Given the description of an element on the screen output the (x, y) to click on. 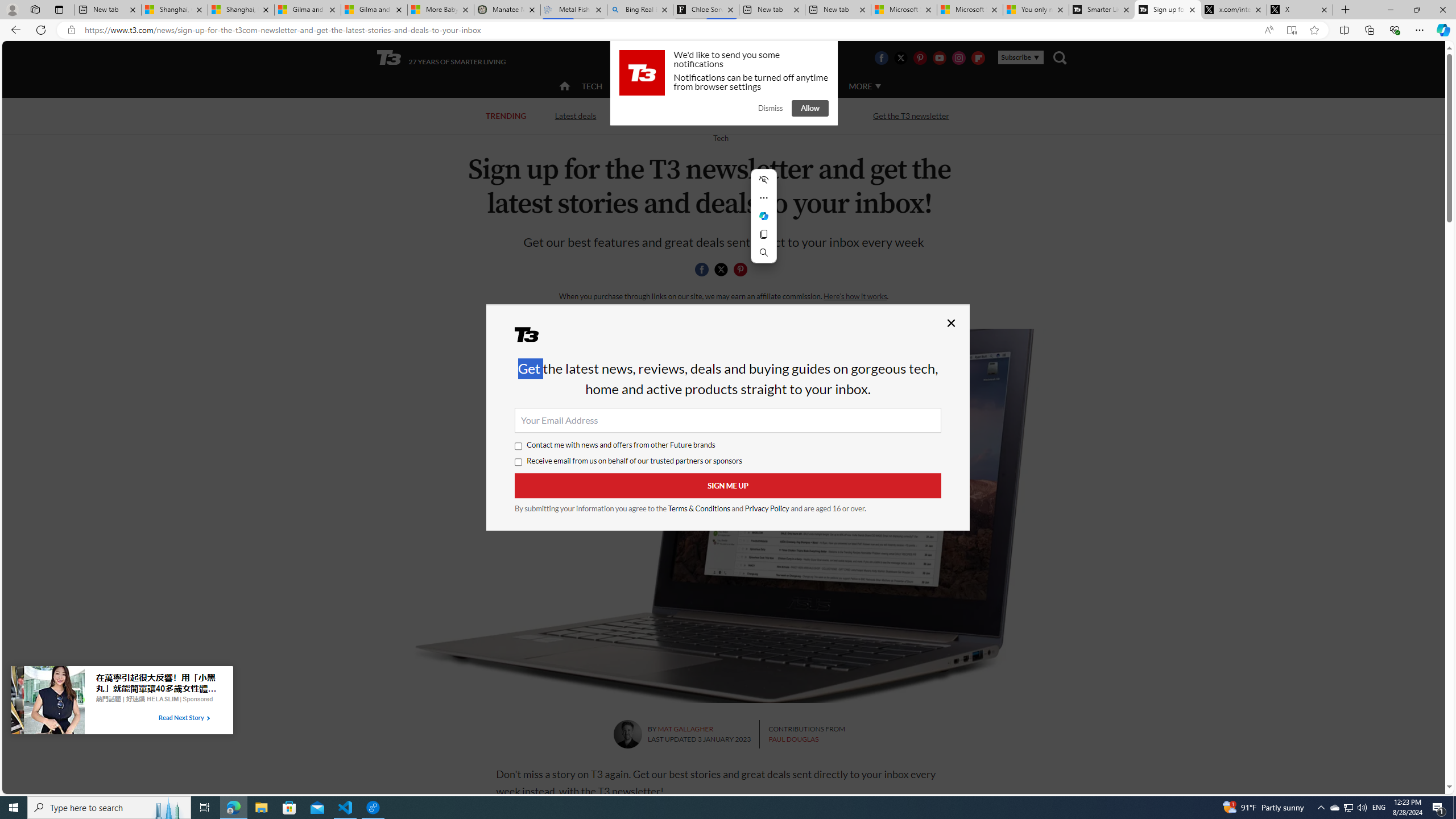
View site information (70, 29)
AUTO (815, 85)
Latest deals (574, 115)
Streaming TV and movies (788, 115)
Visit us on Flipboard (978, 57)
Visit us on Twitter (900, 57)
Minimize (1390, 9)
home (564, 86)
Share this page on Facebook (701, 269)
ACTIVE (638, 85)
Mini menu on text selection (763, 215)
T3 (534, 338)
Class: social__item (742, 271)
App bar (728, 29)
Enter Immersive Reader (F9) (1291, 29)
